Given the description of an element on the screen output the (x, y) to click on. 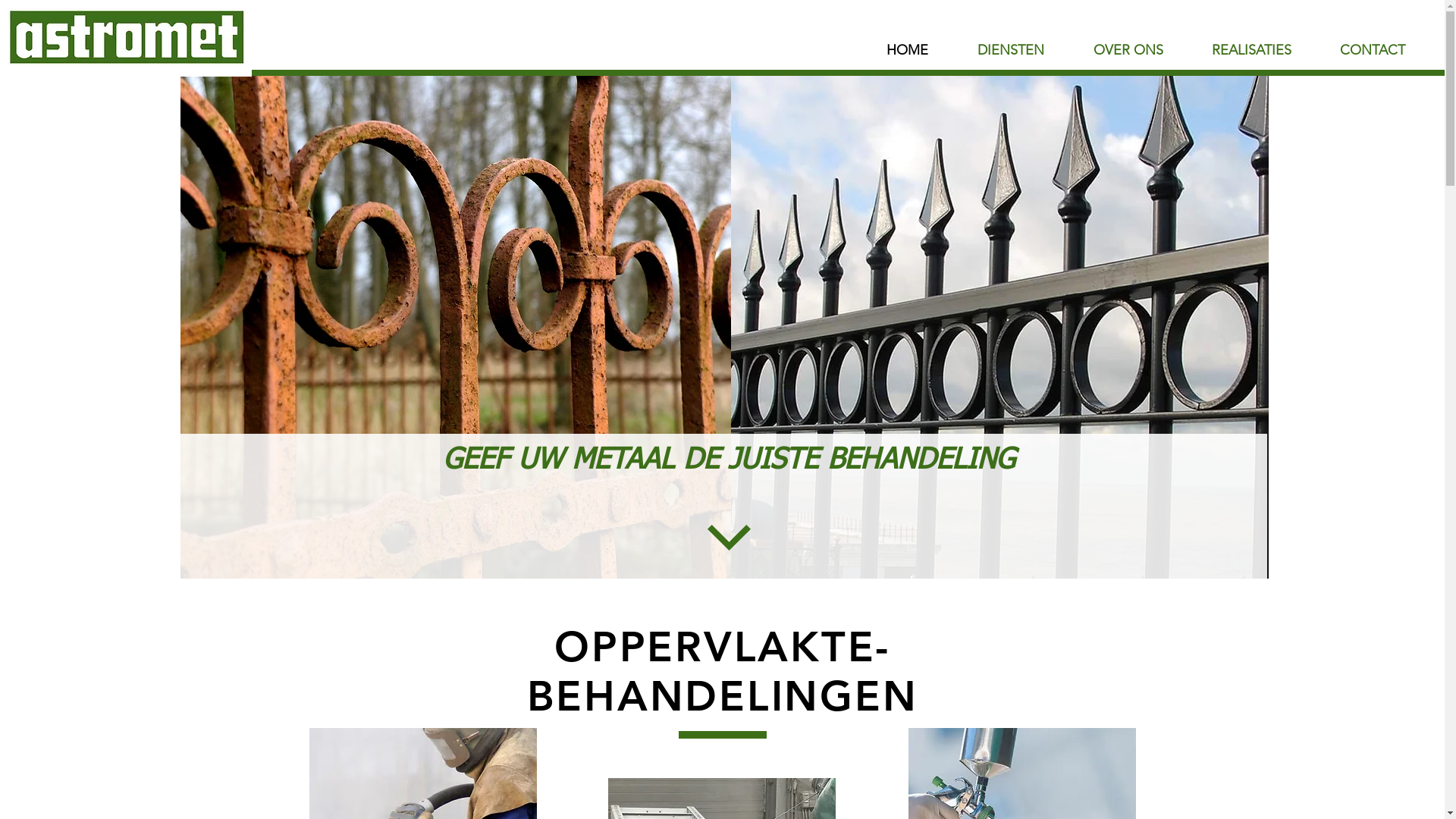
CONTACT Element type: text (1372, 50)
HOME Element type: text (906, 50)
OVER ONS Element type: text (1127, 50)
DIENSTEN Element type: text (1010, 50)
REALISATIES Element type: text (1251, 50)
